Given the description of an element on the screen output the (x, y) to click on. 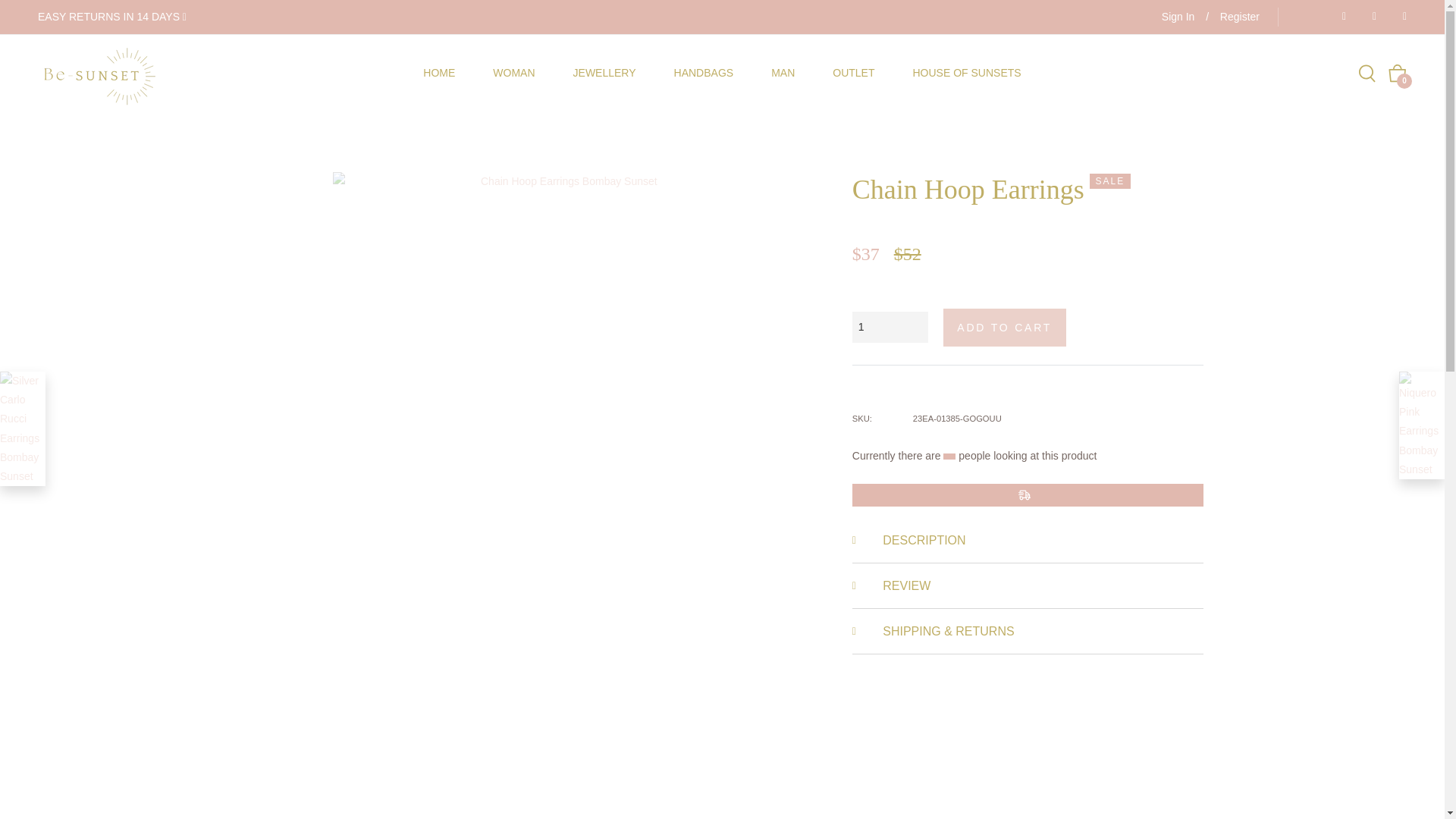
JEWELLERY (604, 73)
OUTLET (853, 73)
Be Sunset on Instagram (1400, 16)
1 (889, 327)
Be Sunset on Pinterest (1369, 16)
WOMAN (513, 73)
HOME (439, 73)
Shopping Cart (1397, 73)
HANDBAGS (703, 73)
Sign In (1178, 16)
